Given the description of an element on the screen output the (x, y) to click on. 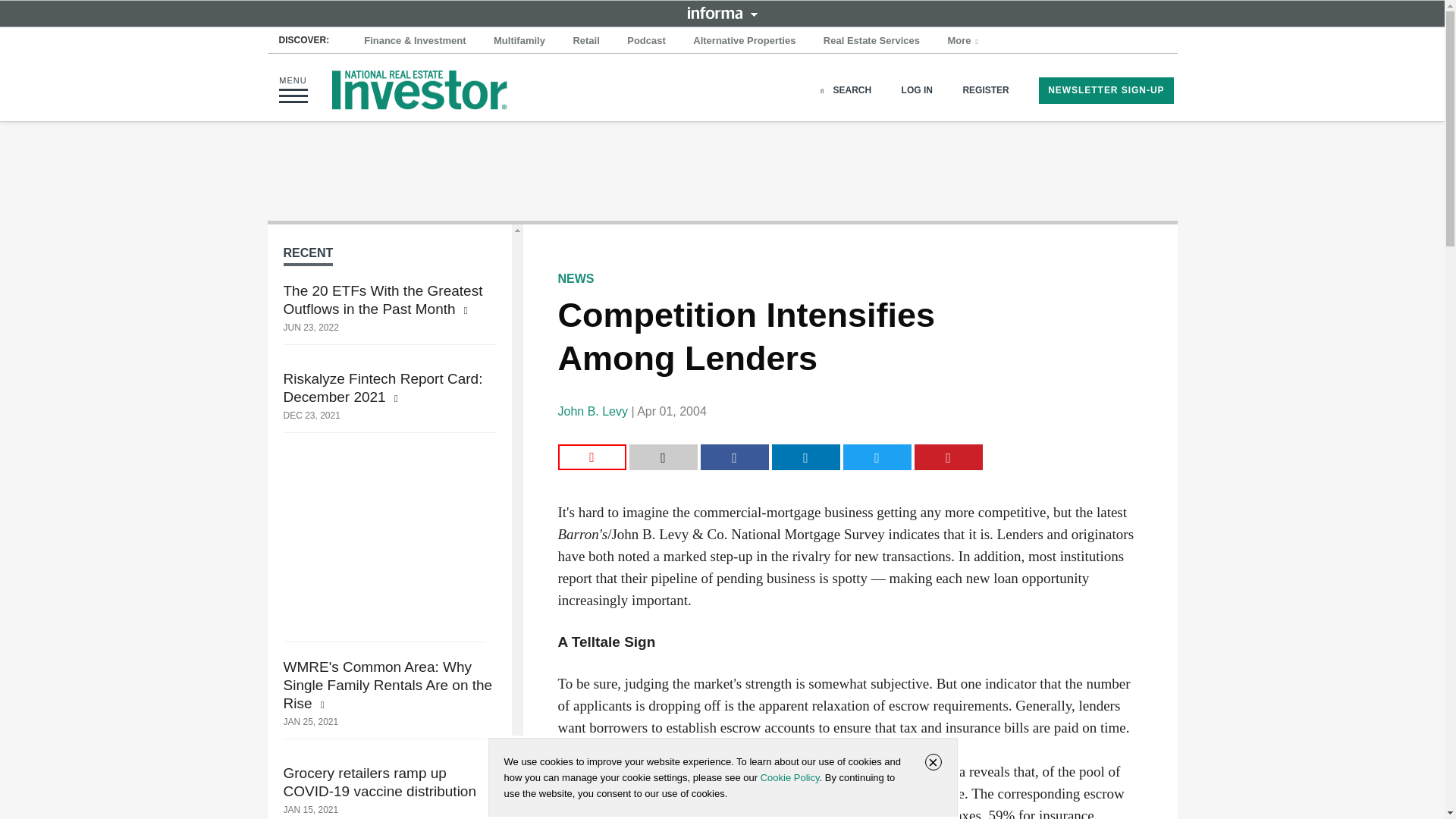
Multifamily (519, 41)
Alternative Properties (744, 41)
Real Estate Services (871, 41)
Cookie Policy (789, 777)
Podcast (646, 41)
More (964, 41)
Retail (585, 41)
INFORMA (722, 12)
